Given the description of an element on the screen output the (x, y) to click on. 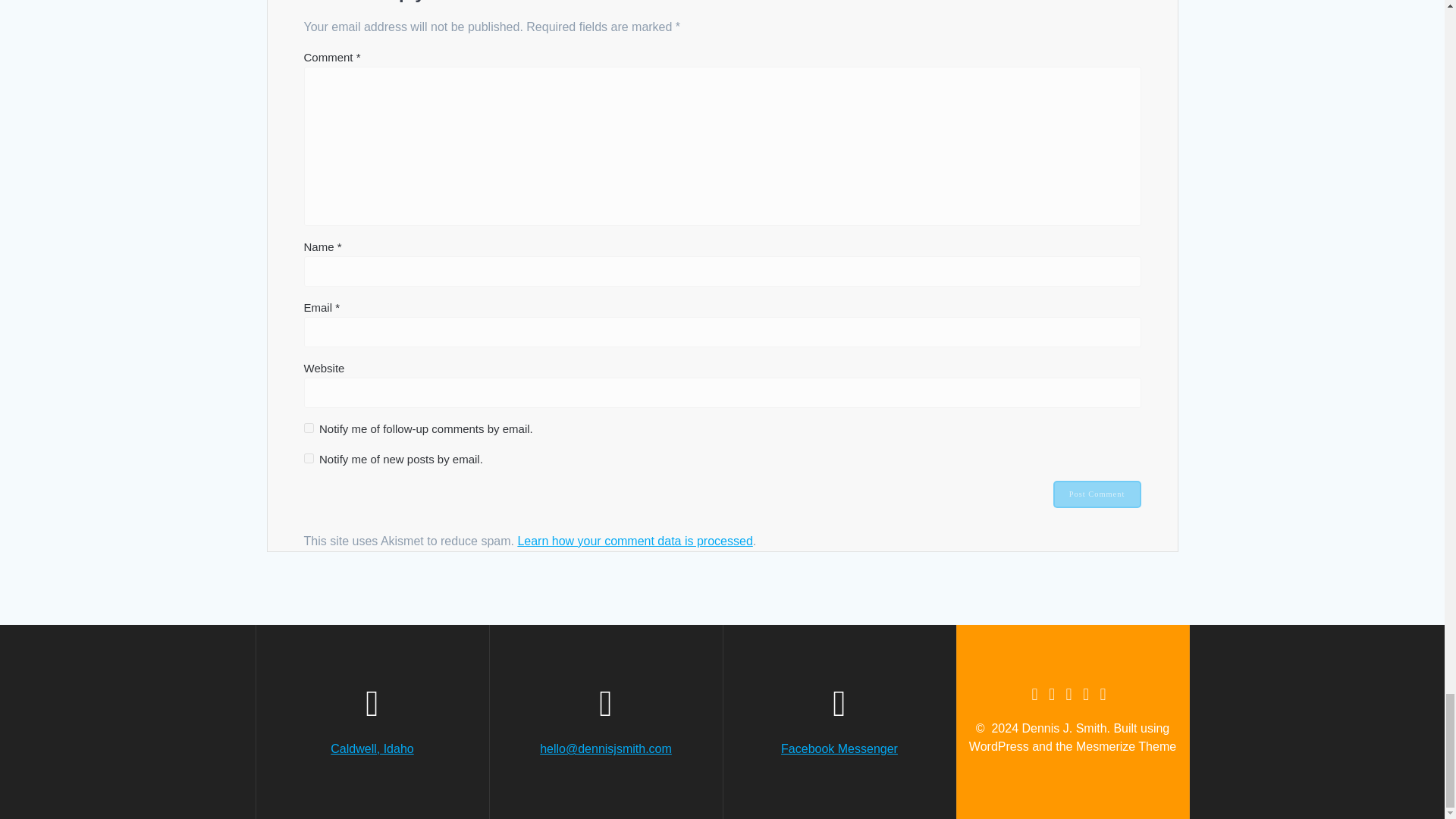
subscribe (307, 458)
subscribe (307, 428)
Post Comment (1096, 493)
